Given the description of an element on the screen output the (x, y) to click on. 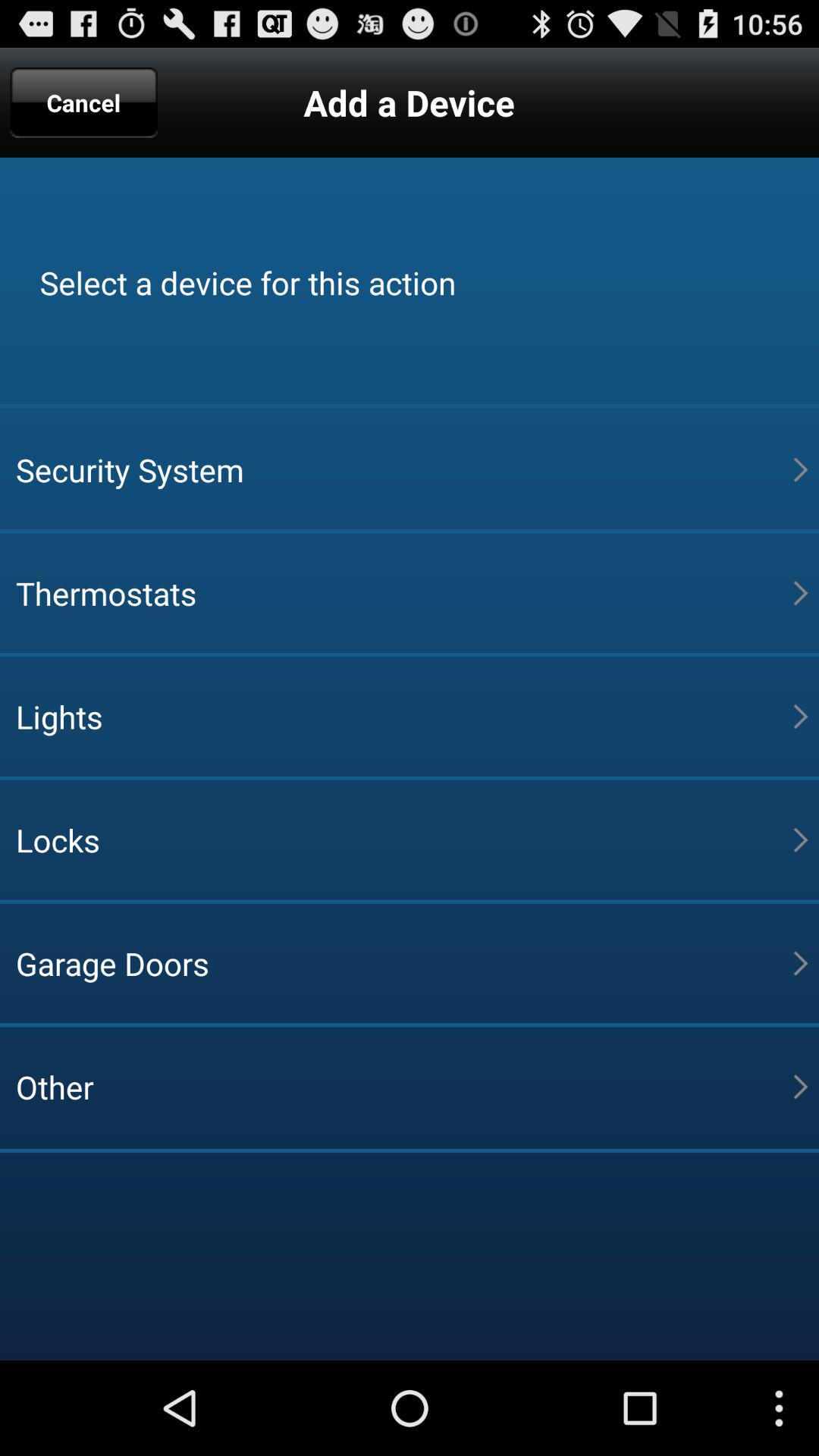
choose the other item (403, 1086)
